Given the description of an element on the screen output the (x, y) to click on. 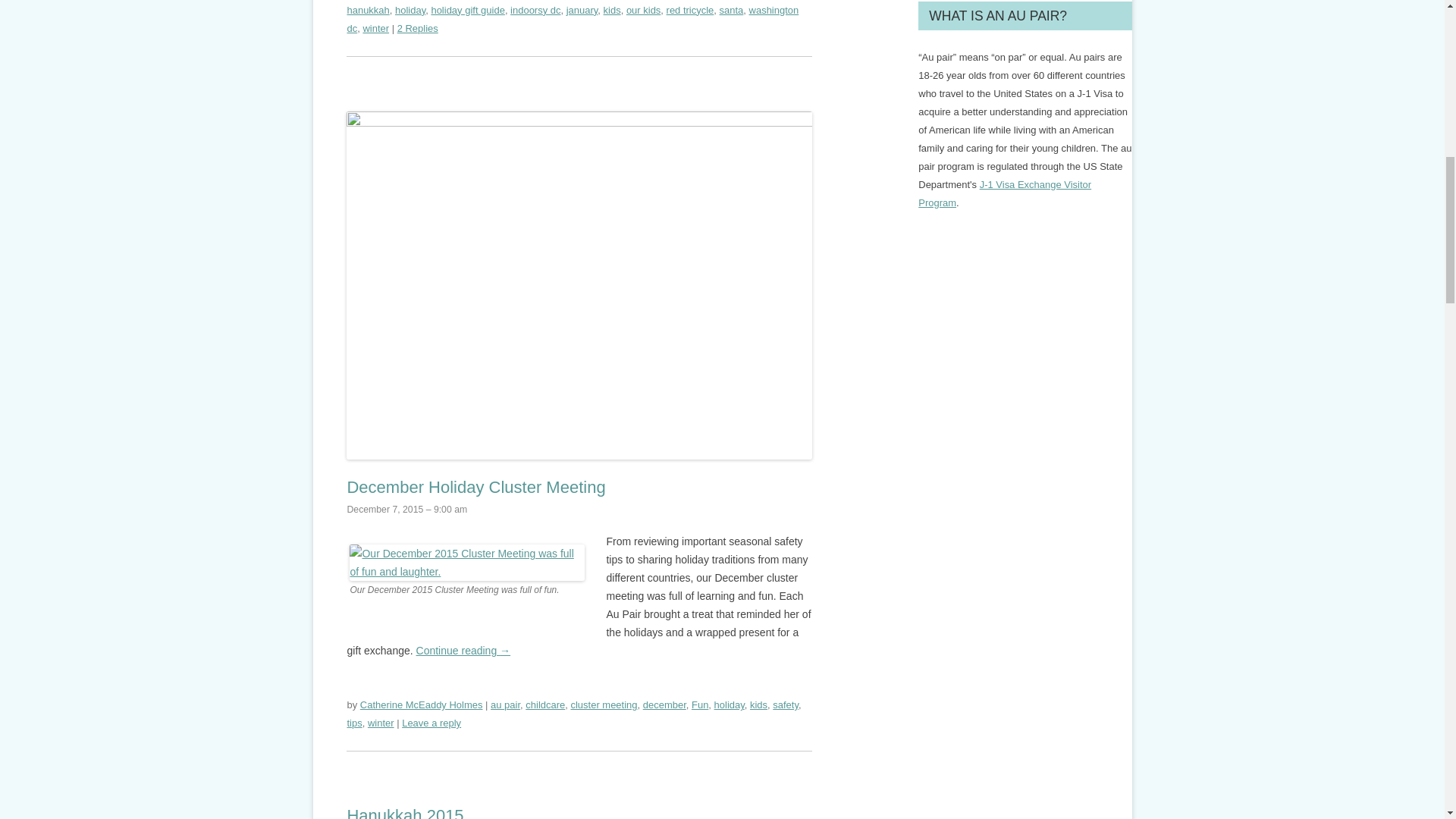
Photo: Catherine McEaddy Holmes (467, 562)
